Given the description of an element on the screen output the (x, y) to click on. 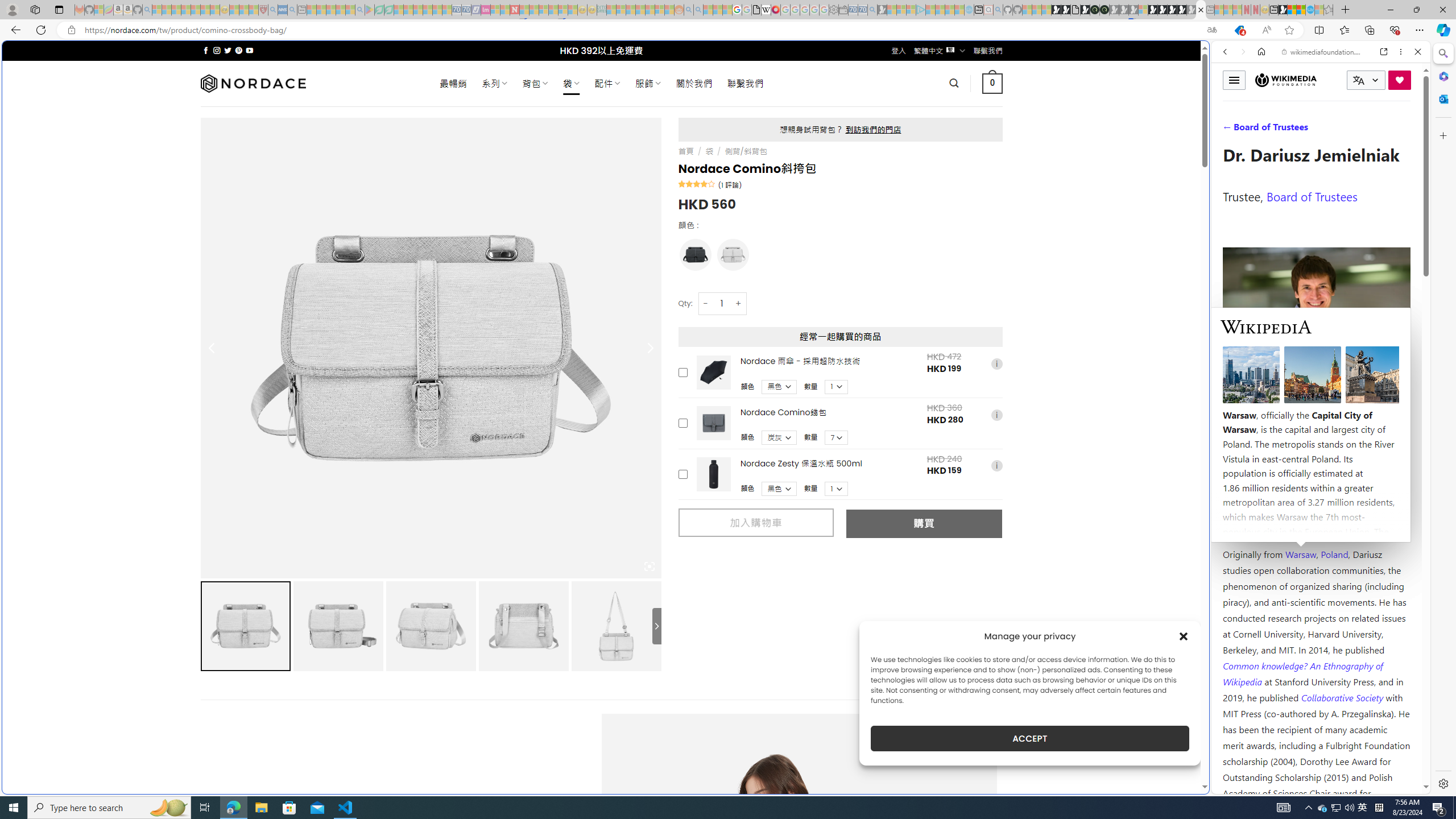
Follow on Instagram (216, 50)
Class: upsell-v2-product-upsell-variable-product-qty-select (836, 488)
